Given the description of an element on the screen output the (x, y) to click on. 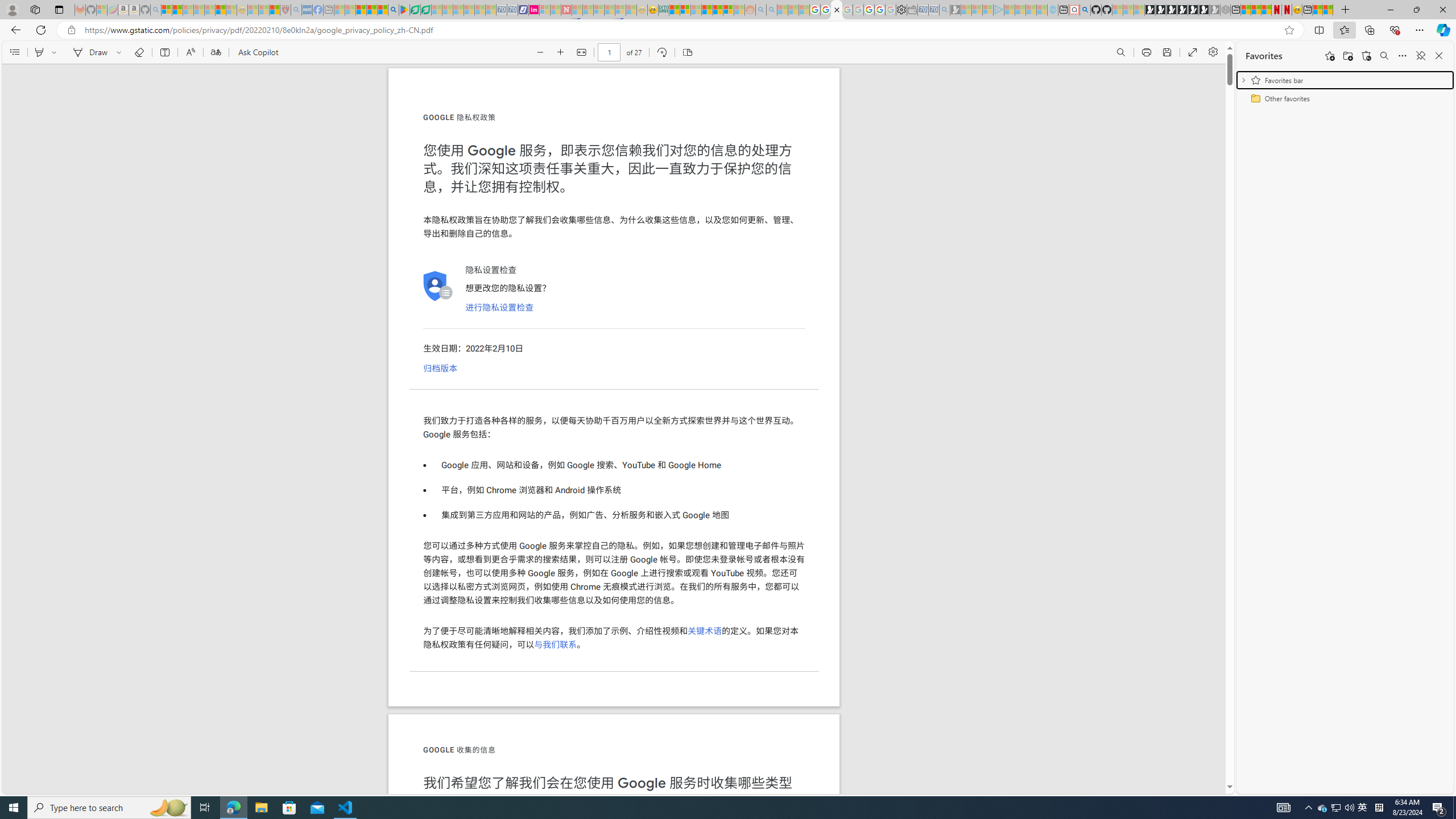
Page number (609, 52)
Select a highlight color (56, 52)
Highlight (39, 52)
Restore deleted favorites (1366, 55)
Pets - MSN (371, 9)
Zoom in (Ctrl+Plus key) (561, 52)
